Given the description of an element on the screen output the (x, y) to click on. 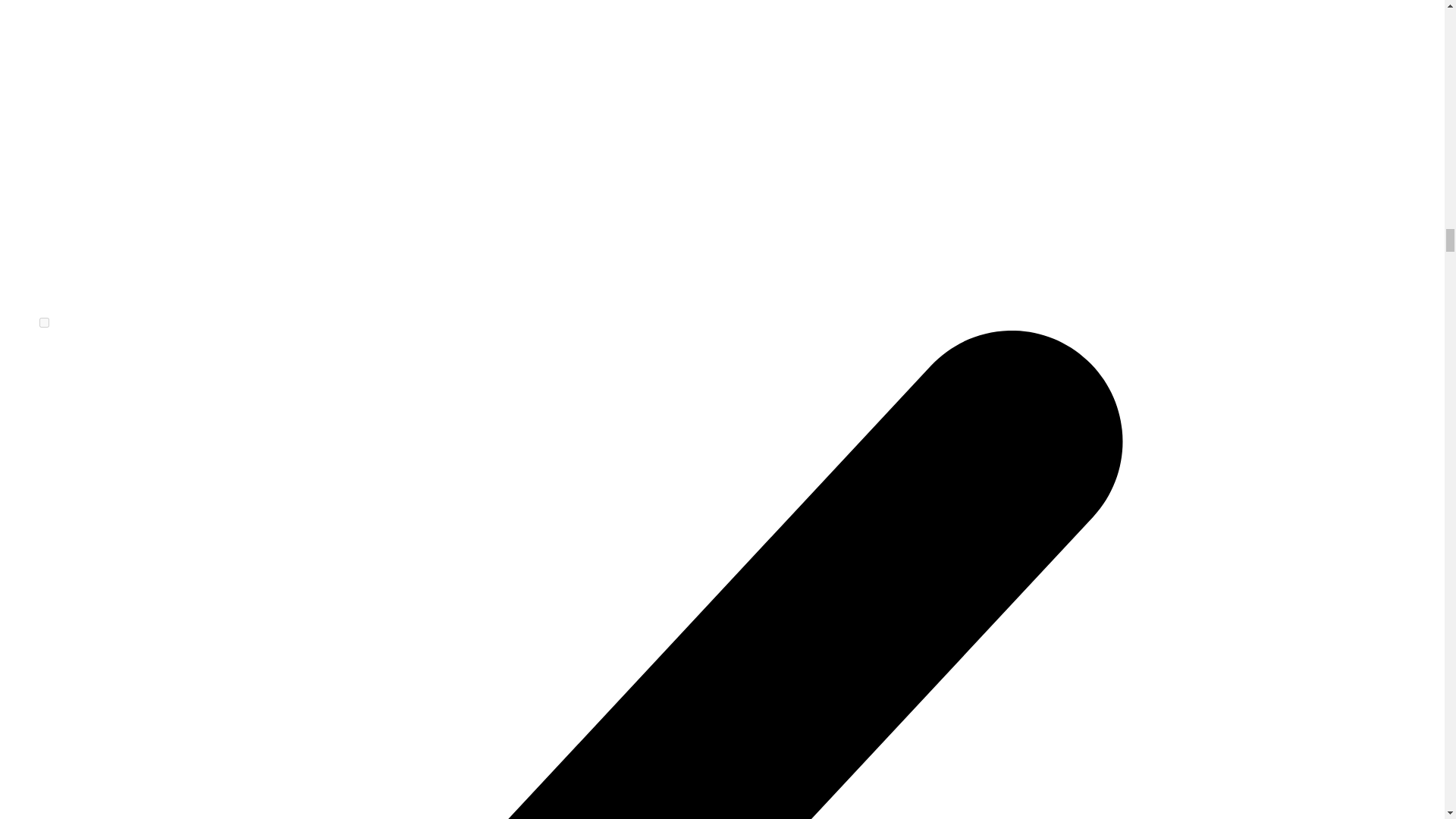
on (44, 322)
